Given the description of an element on the screen output the (x, y) to click on. 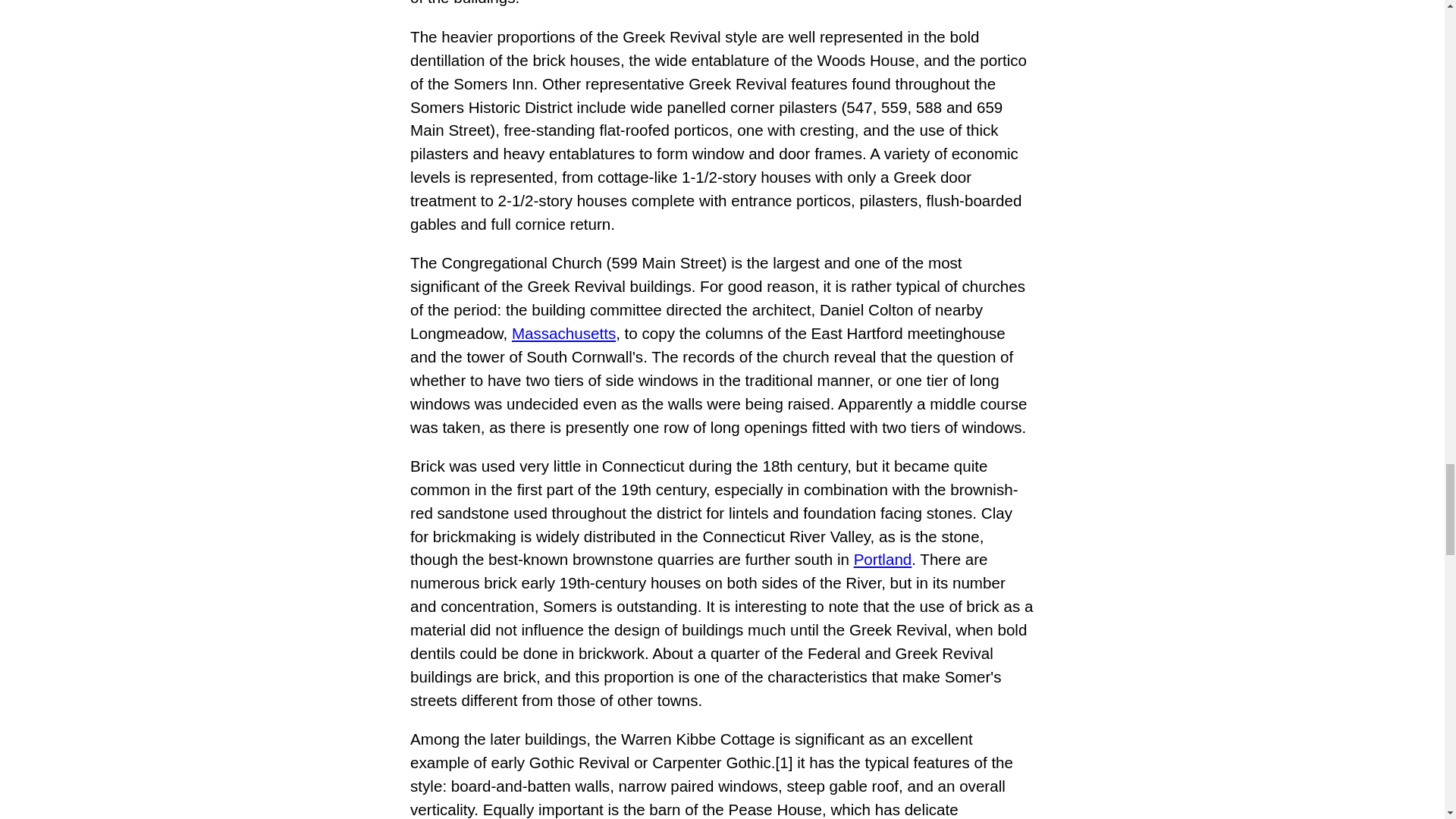
Massachusetts (563, 333)
